Given the description of an element on the screen output the (x, y) to click on. 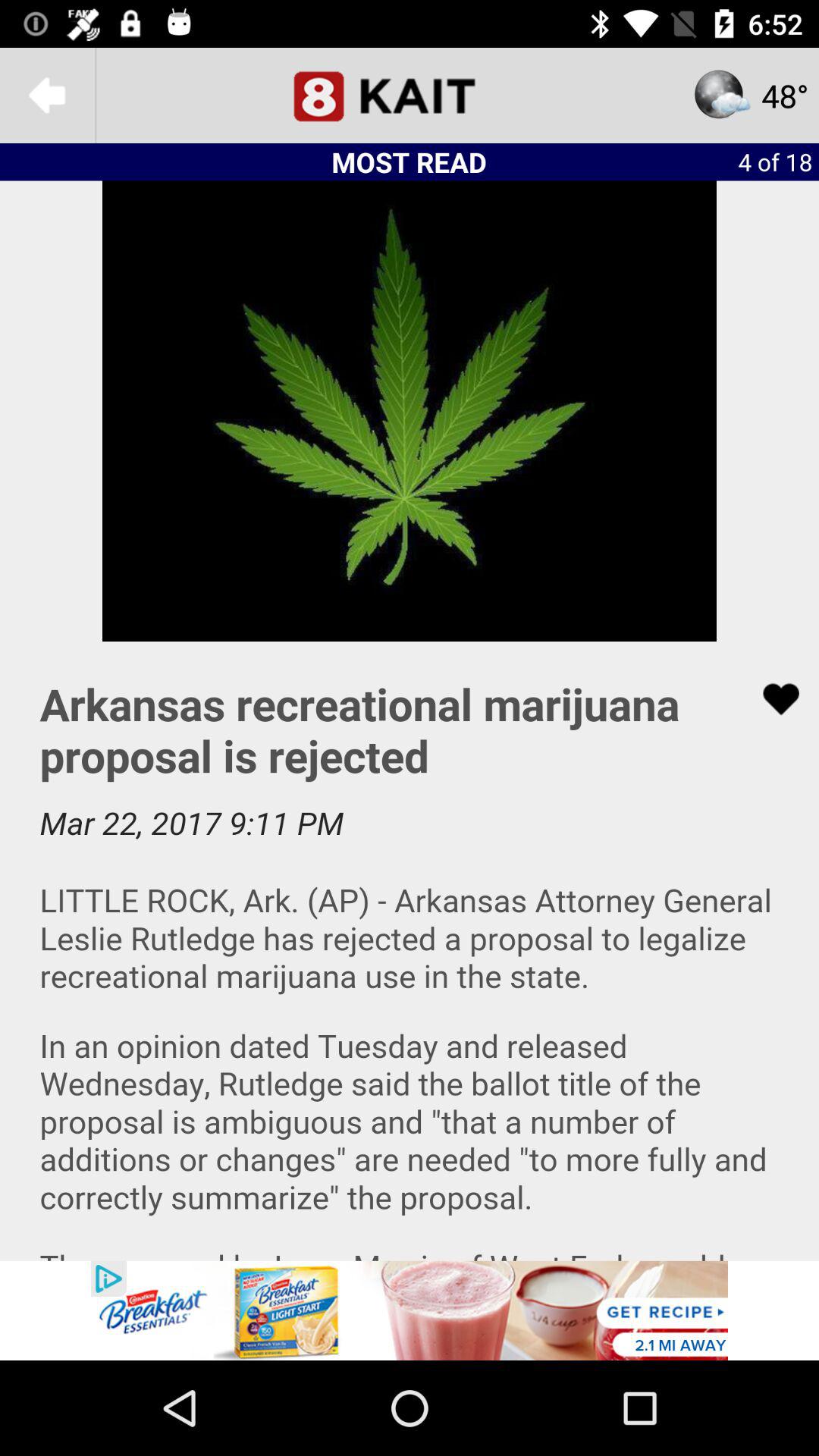
advertisement page (409, 950)
